Given the description of an element on the screen output the (x, y) to click on. 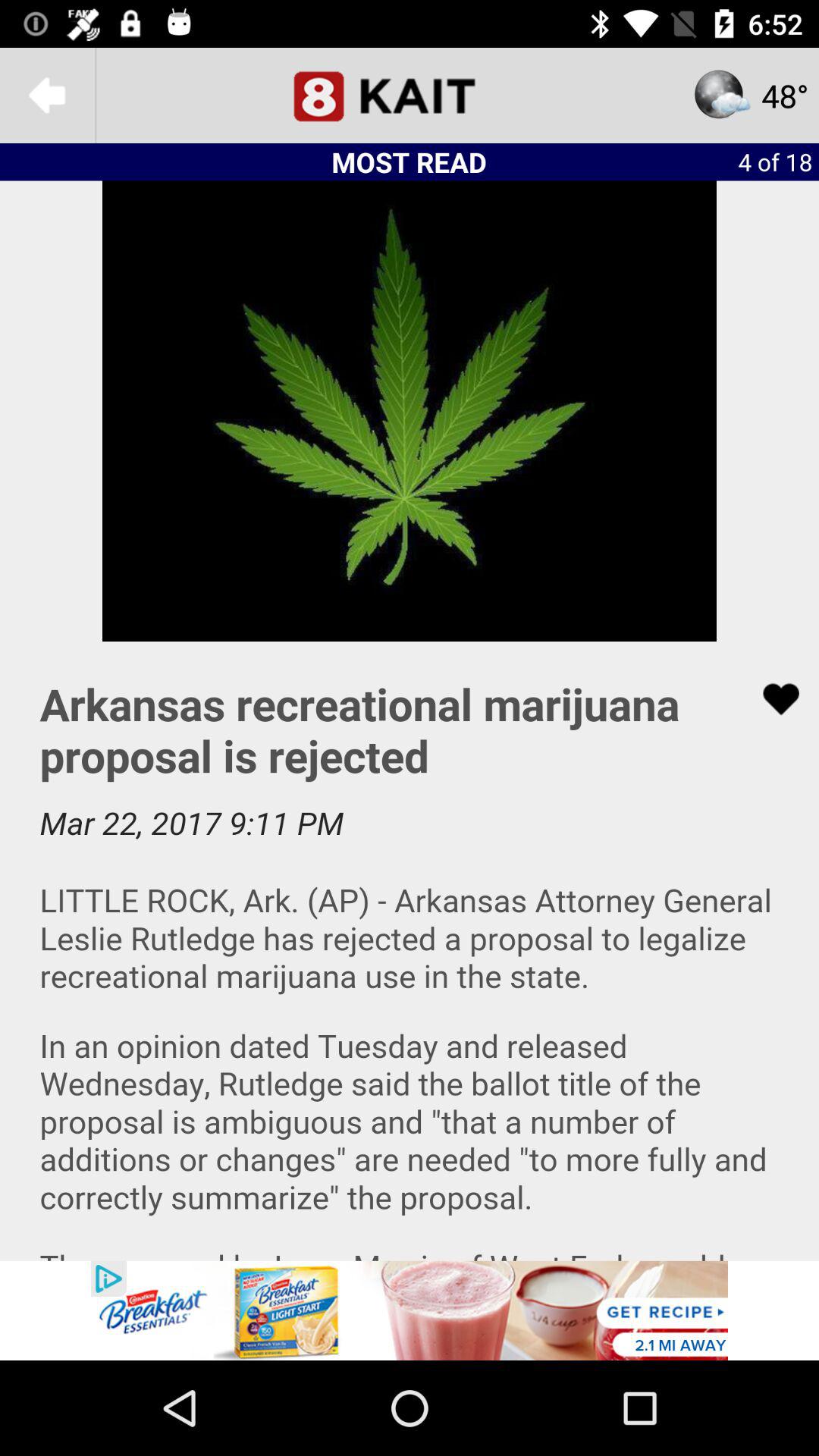
advertisement page (409, 950)
